Given the description of an element on the screen output the (x, y) to click on. 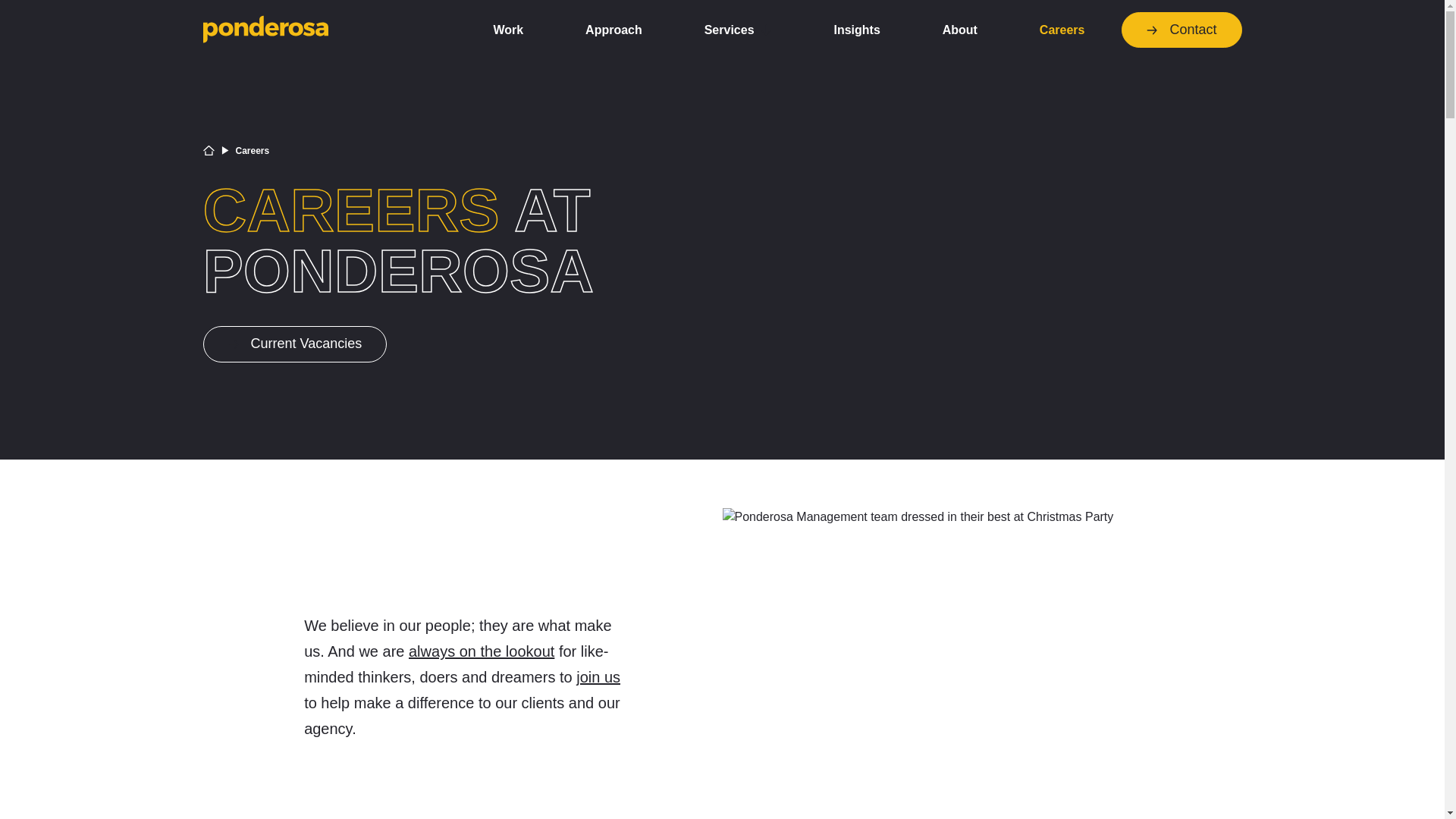
Services (737, 29)
Approach (613, 29)
Work (508, 29)
